Given the description of an element on the screen output the (x, y) to click on. 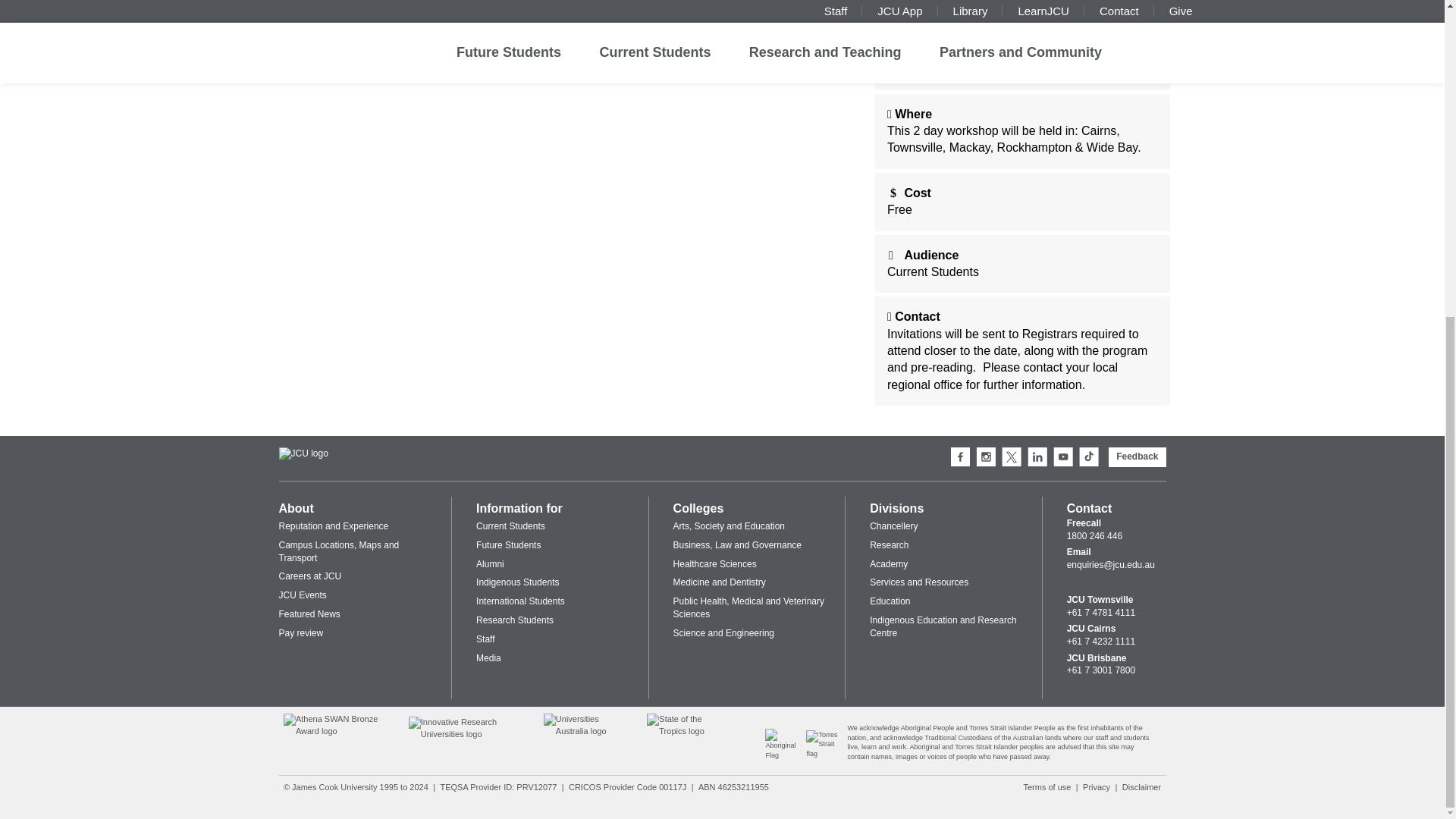
Go to Indigenous Education and Research Centre (826, 753)
Go to Indigenous Education and Research Centre (785, 754)
Go to JCU home page (304, 453)
Go to JCU Twitter (1011, 456)
Athena SWAN Bronze Award (336, 730)
Go to JCU Instagram (985, 456)
Go to JCU TikTok (1088, 456)
Universities Australia (584, 730)
Innovative Research Universities (465, 733)
State of the tropics (687, 730)
Go to JCU Youtube (1062, 456)
Go to JCU Facebook (959, 456)
JCU feedback (1137, 456)
Go to JCU LinkedIn (1036, 456)
